Given the description of an element on the screen output the (x, y) to click on. 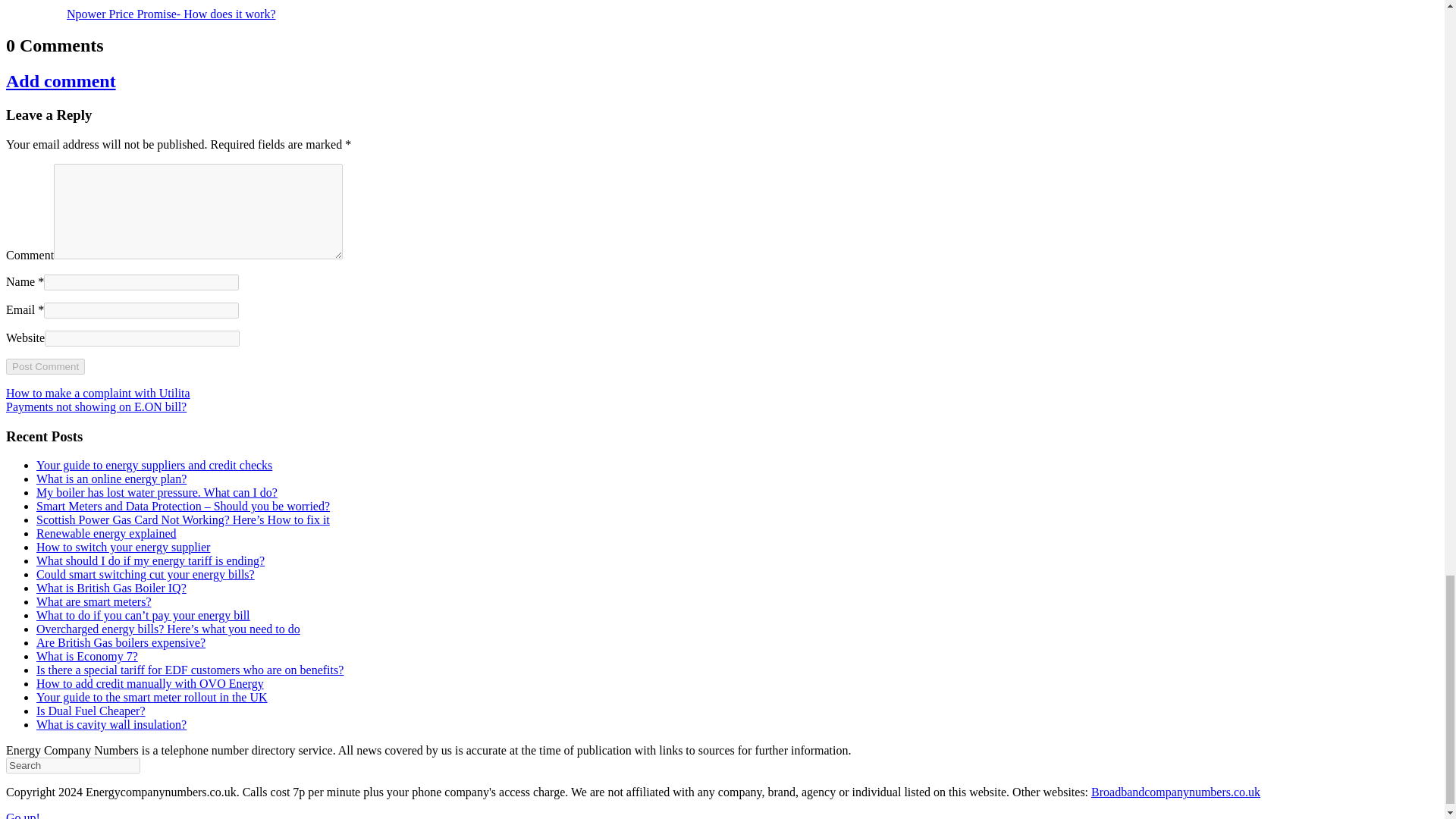
Post Comment (44, 366)
Permanent Link to Npower Price Promise- How does it work? (171, 13)
Search (72, 765)
